Given the description of an element on the screen output the (x, y) to click on. 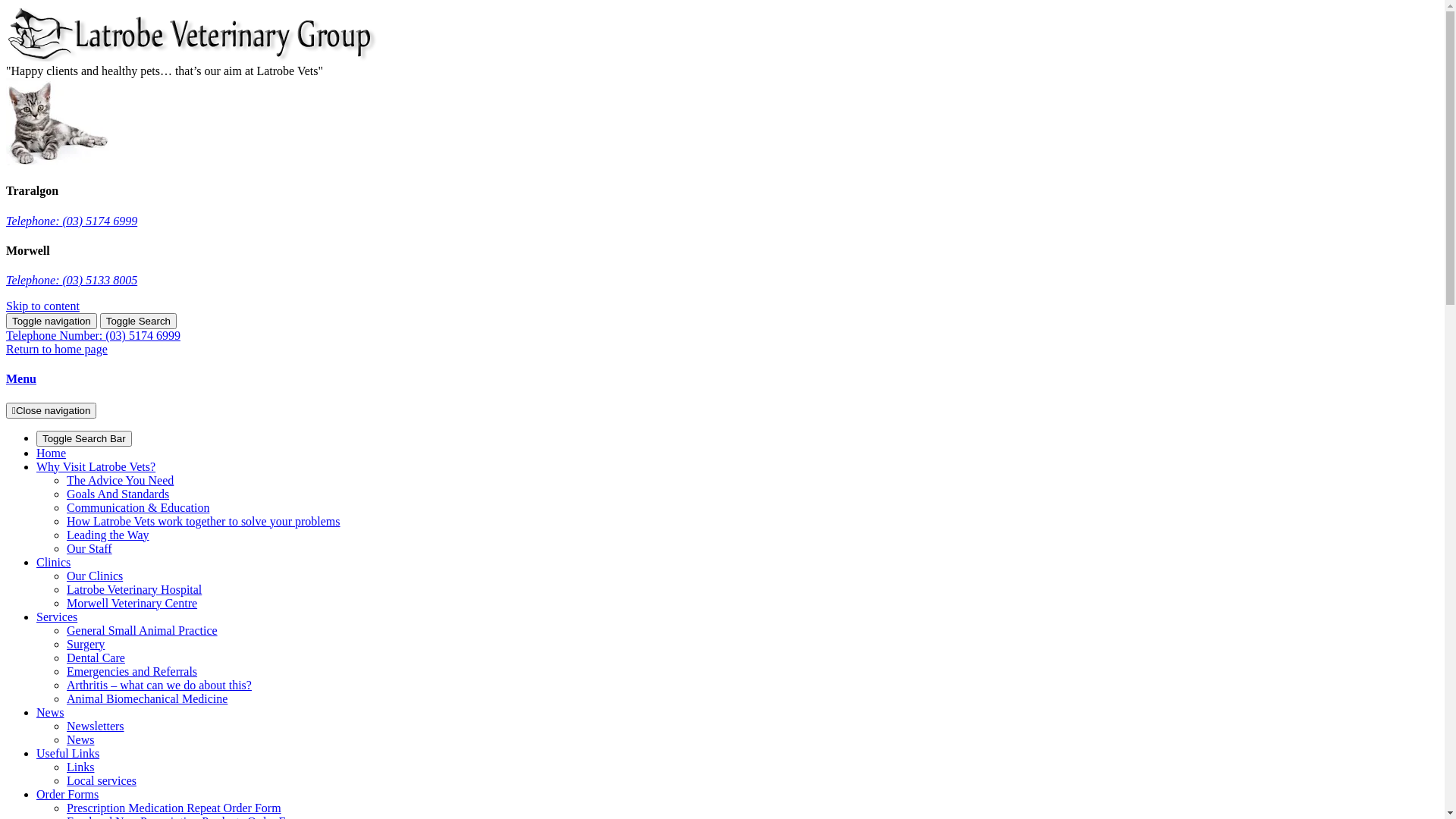
home Element type: hover (195, 56)
Dental Care Element type: text (95, 657)
Order Forms Element type: text (67, 793)
The Advice You Need Element type: text (119, 479)
Toggle Search Bar Element type: text (83, 438)
General Small Animal Practice Element type: text (141, 630)
How Latrobe Vets work together to solve your problems Element type: text (203, 520)
Toggle navigation Element type: text (51, 321)
Leading the Way Element type: text (107, 534)
Skip to content Element type: text (42, 305)
Goals And Standards Element type: text (117, 493)
Telephone Number: (03) 5174 6999 Element type: text (93, 335)
Our Staff Element type: text (89, 548)
Morwell Veterinary Centre Element type: text (131, 602)
Surgery Element type: text (85, 643)
News Element type: text (49, 712)
Links Element type: text (80, 766)
Animal Biomechanical Medicine Element type: text (146, 698)
Prescription Medication Repeat Order Form Element type: text (173, 807)
Telephone: (03) 5174 6999 Element type: text (71, 220)
Why Visit Latrobe Vets? Element type: text (95, 466)
Local services Element type: text (101, 780)
Home Element type: text (50, 452)
Emergencies and Referrals Element type: text (131, 671)
Newsletters Element type: text (95, 725)
Useful Links Element type: text (67, 752)
Our Clinics Element type: text (94, 575)
Latrobe Veterinary Hospital Element type: text (133, 589)
News Element type: text (80, 739)
Toggle Search Element type: text (138, 321)
Menu Element type: text (21, 378)
Services Element type: text (56, 616)
Communication & Education Element type: text (137, 507)
Return to home page Element type: text (56, 348)
Clinics Element type: text (53, 561)
Telephone: (03) 5133 8005 Element type: text (71, 279)
